Given the description of an element on the screen output the (x, y) to click on. 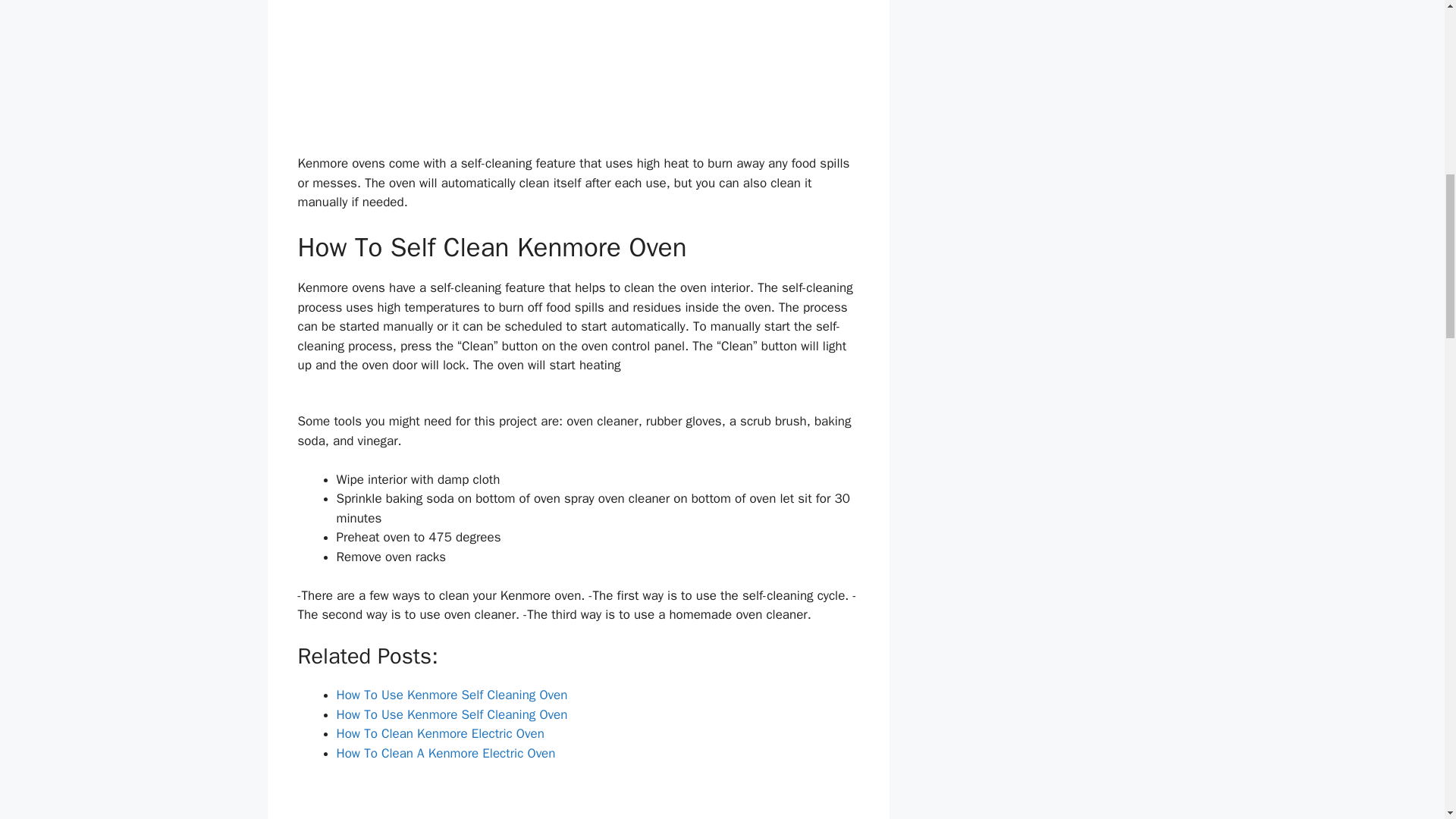
Advertisement (578, 74)
How To Clean Kenmore Electric Oven (440, 733)
How To Use Kenmore Self Cleaning Oven (451, 714)
How To Use Kenmore Self Cleaning Oven (451, 694)
How To Clean A Kenmore Electric Oven (446, 753)
